Given the description of an element on the screen output the (x, y) to click on. 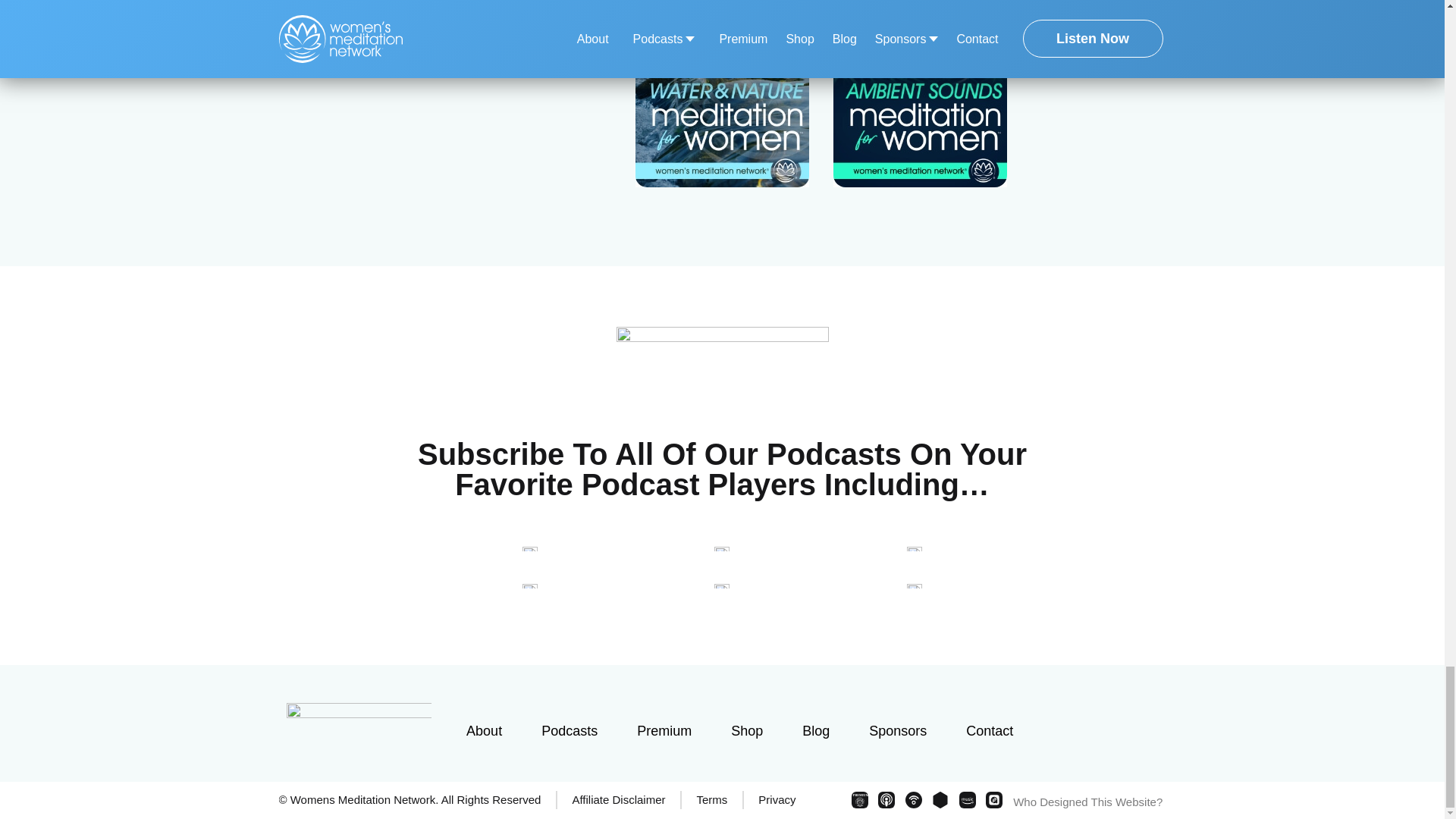
PREMIUM (859, 799)
